Given the description of an element on the screen output the (x, y) to click on. 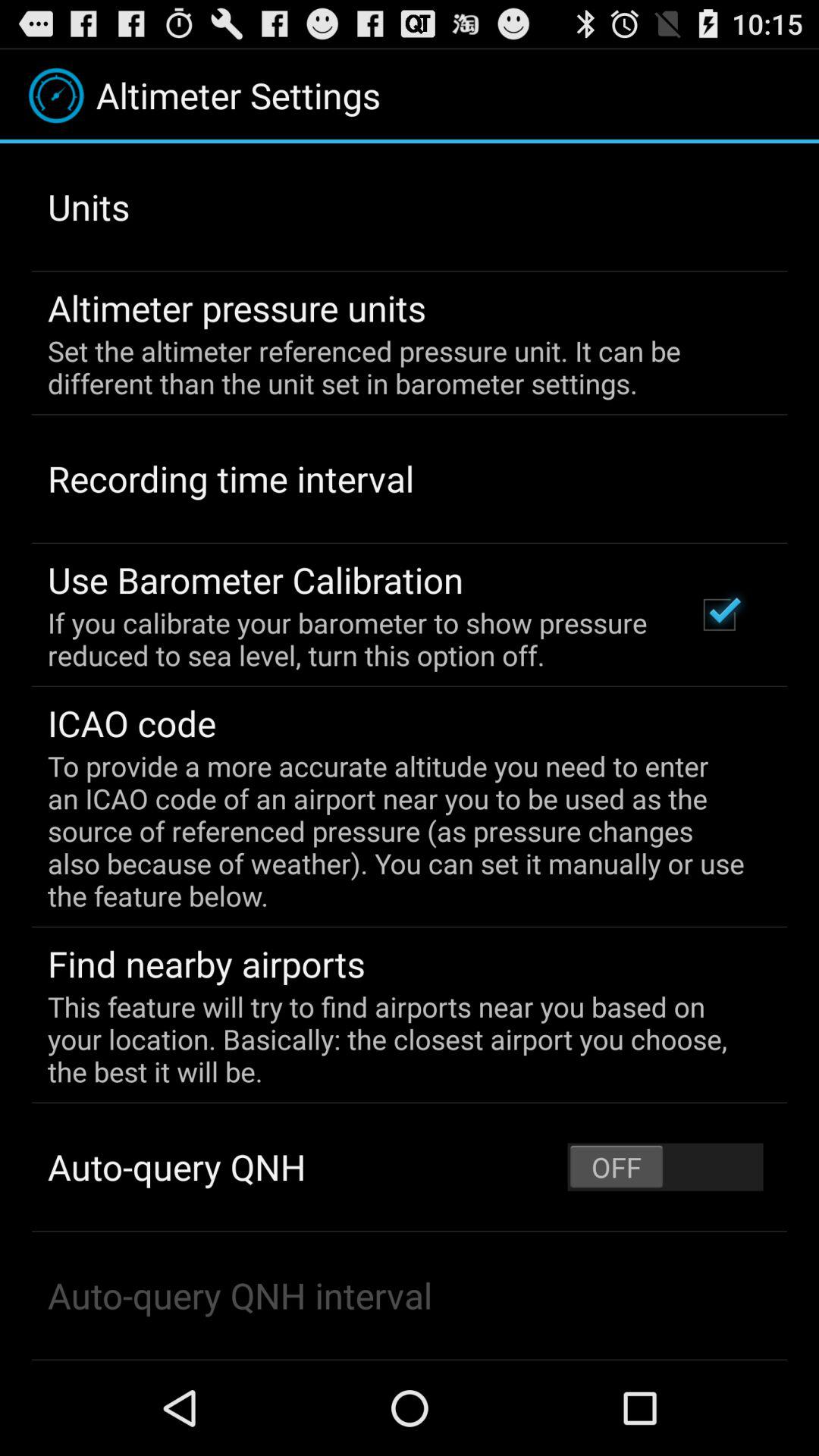
open icon next to the if you calibrate app (719, 614)
